Given the description of an element on the screen output the (x, y) to click on. 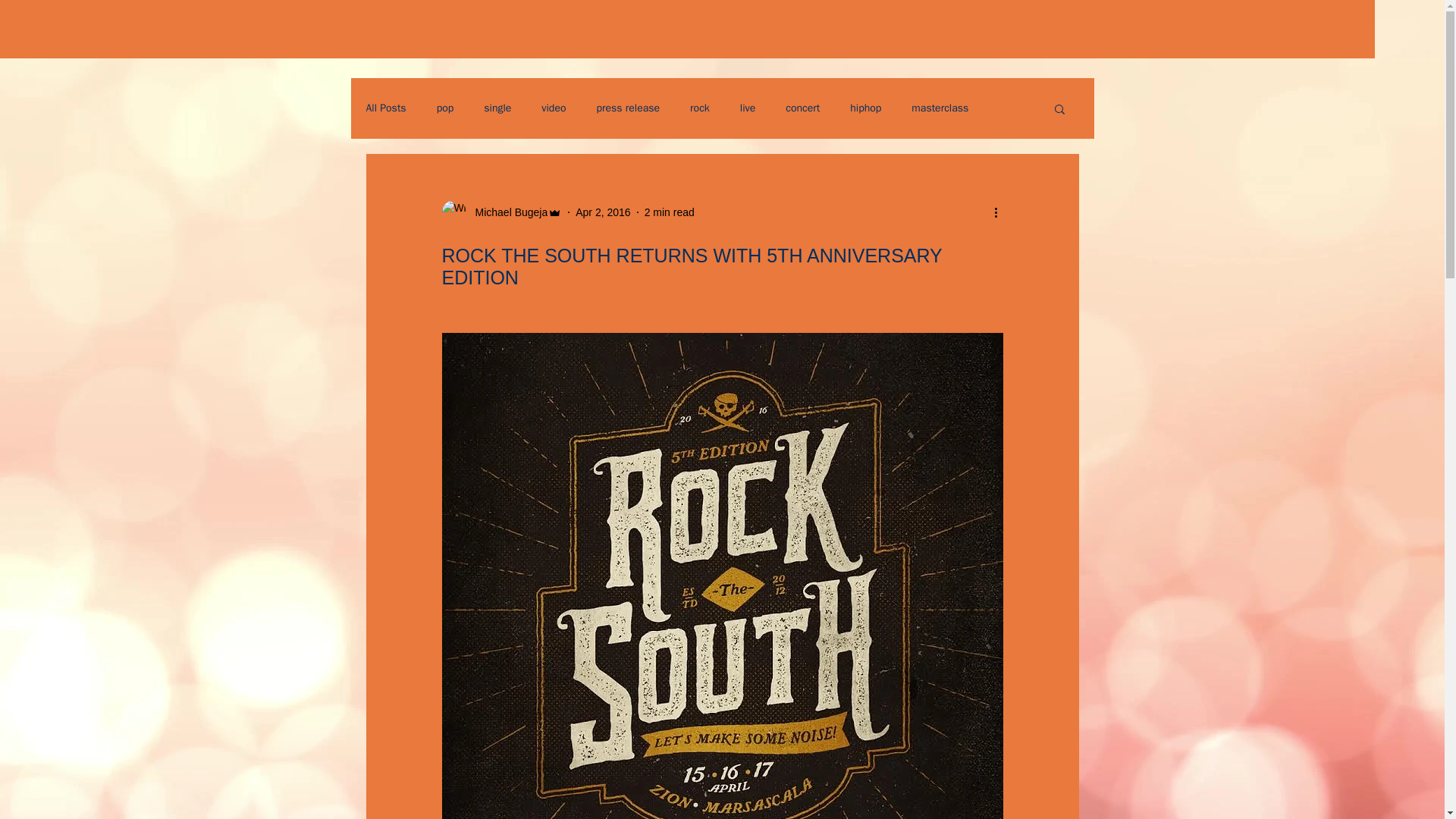
hiphop (865, 108)
pop (445, 108)
2 min read (669, 212)
All Posts (385, 108)
masterclass (939, 108)
Michael Bugeja (506, 212)
live (747, 108)
press release (628, 108)
video (553, 108)
rock (700, 108)
